Given the description of an element on the screen output the (x, y) to click on. 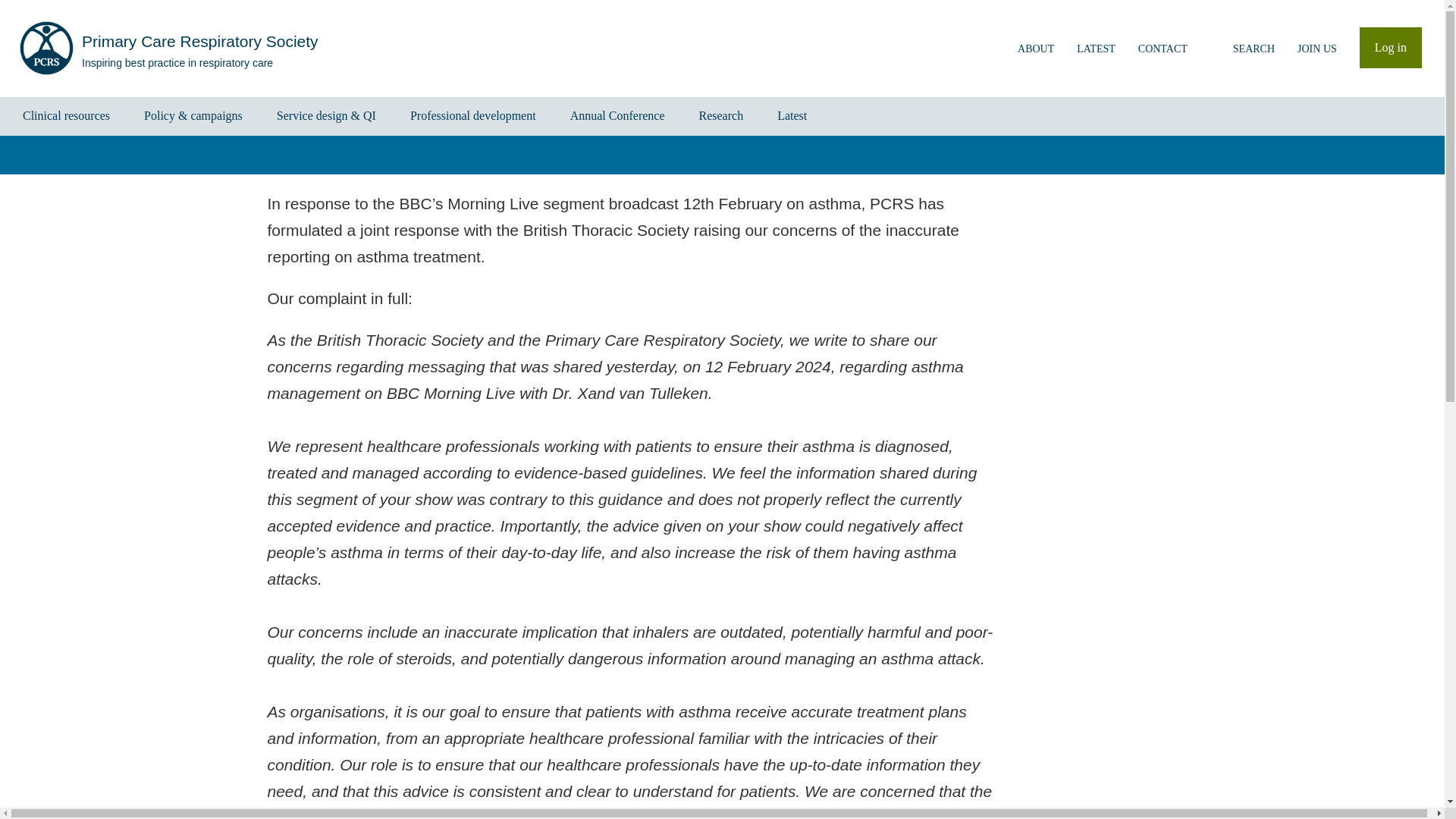
CONTACT (1162, 48)
Clinical resources (66, 116)
Home (168, 48)
ABOUT (1035, 48)
SEARCH (1241, 48)
Log in (1390, 47)
LATEST (1095, 48)
Annual Conference (617, 116)
Professional development (472, 116)
